Given the description of an element on the screen output the (x, y) to click on. 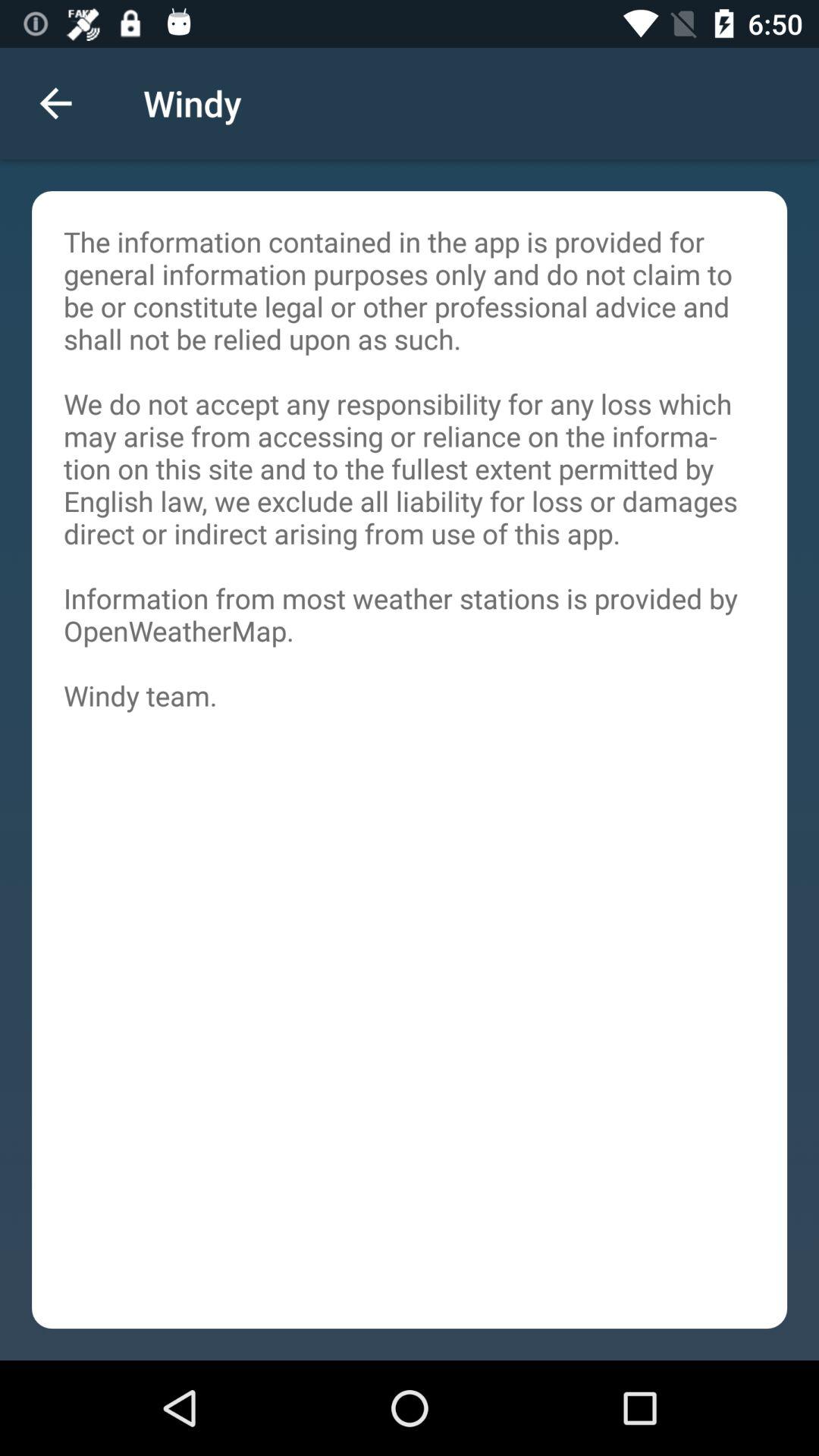
choose the item to the left of the windy icon (55, 103)
